Given the description of an element on the screen output the (x, y) to click on. 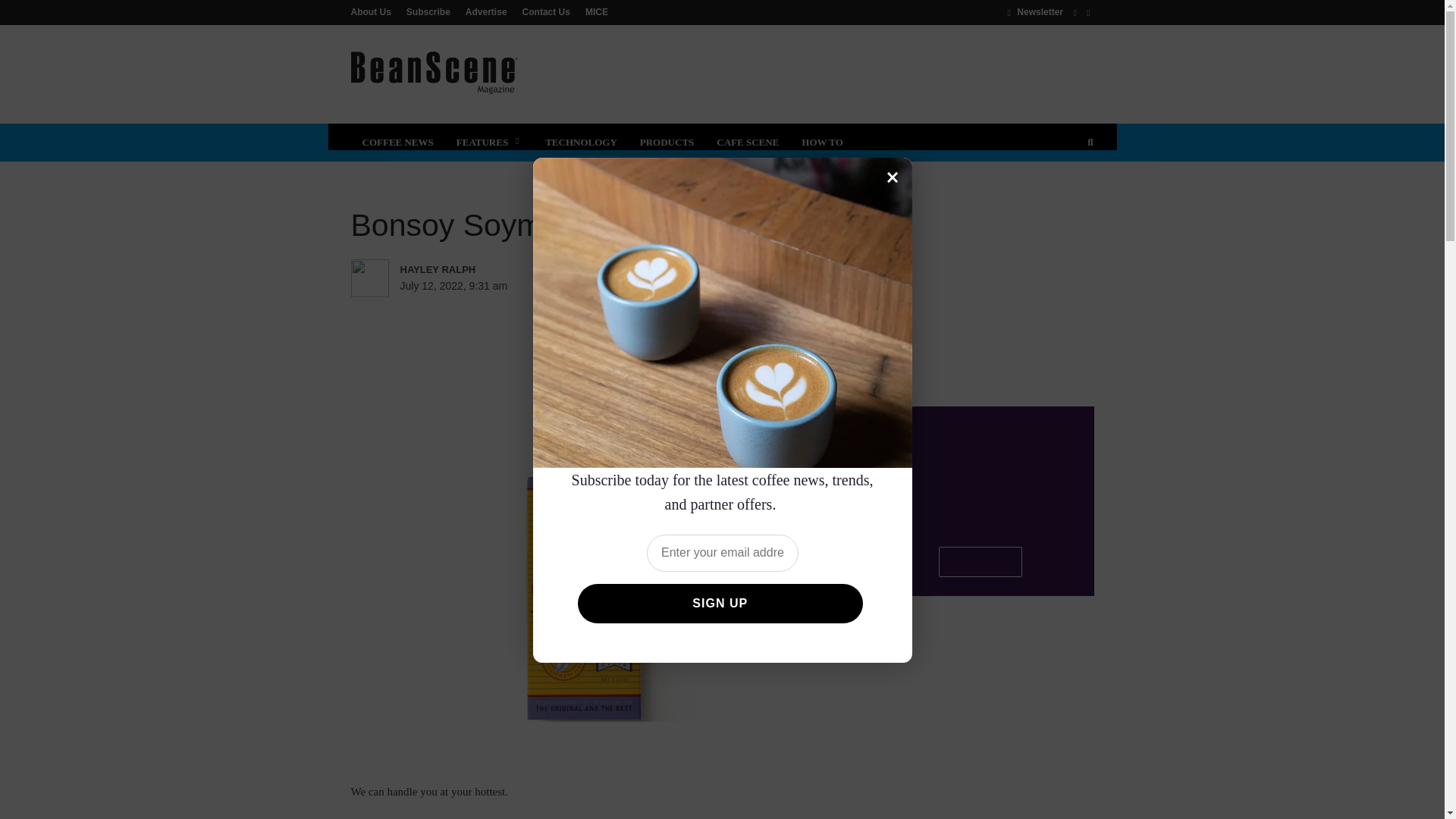
CAFE SCENE (747, 142)
Subscribe (428, 11)
Contact Us (546, 11)
COFFEE NEWS (397, 142)
View all posts by Hayley Ralph (465, 269)
MICE (593, 11)
HOW TO (822, 142)
Newsletter (1034, 11)
About Us (373, 11)
Advertise (486, 11)
FEATURES (489, 142)
Share on Copy Link (734, 283)
Share on LinkedIn (654, 283)
Share on Twitter (628, 283)
Share on Facebook (601, 283)
